Given the description of an element on the screen output the (x, y) to click on. 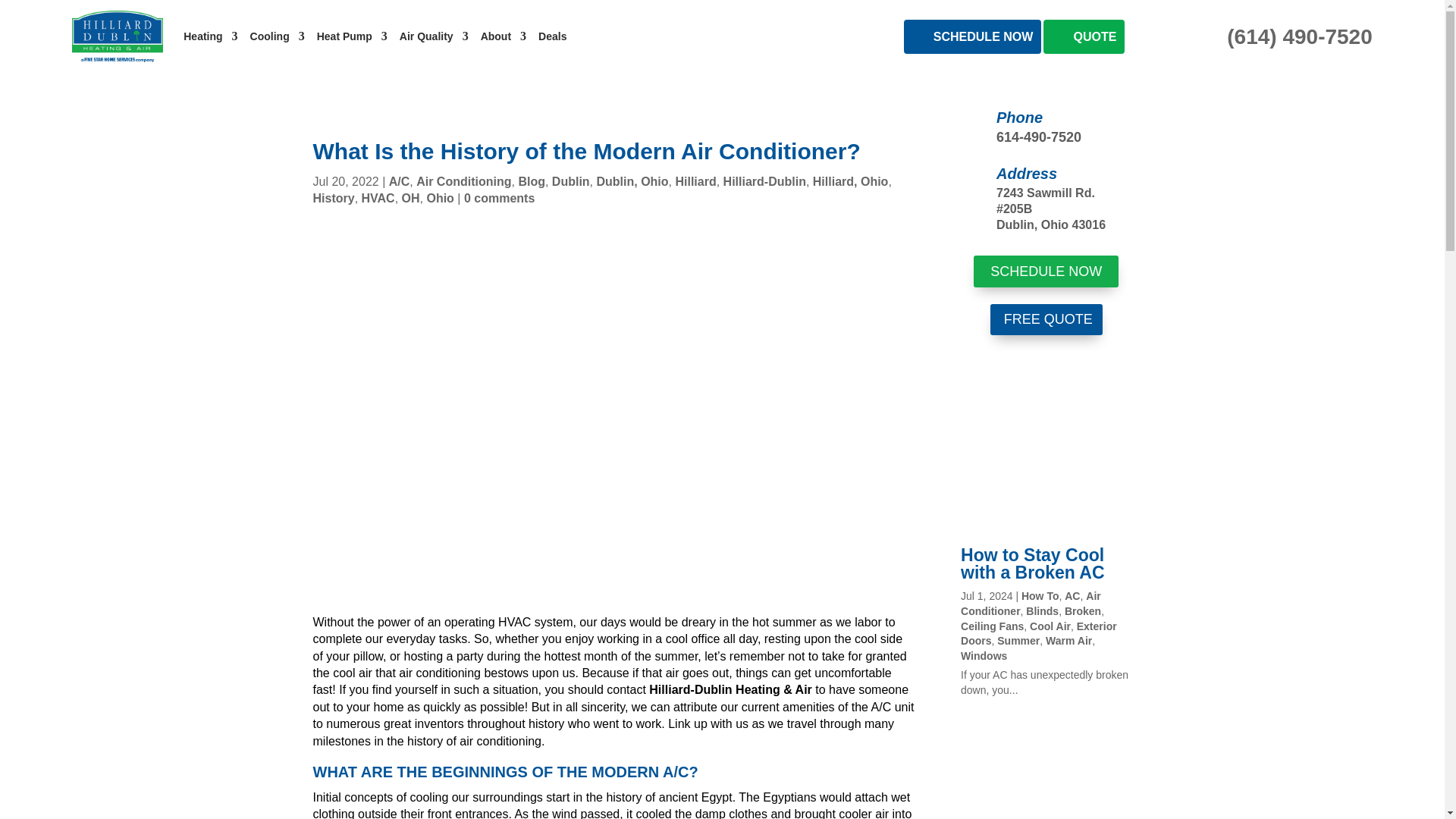
Dublin (570, 181)
Hilliard (695, 181)
Hilliard, Ohio (850, 181)
Hilliard-Dublin (764, 181)
Cooling (277, 36)
Air Conditioning (463, 181)
Dublin, Ohio (631, 181)
Heating (210, 36)
Heat Pump (352, 36)
Blog (531, 181)
Air Quality (433, 36)
